Given the description of an element on the screen output the (x, y) to click on. 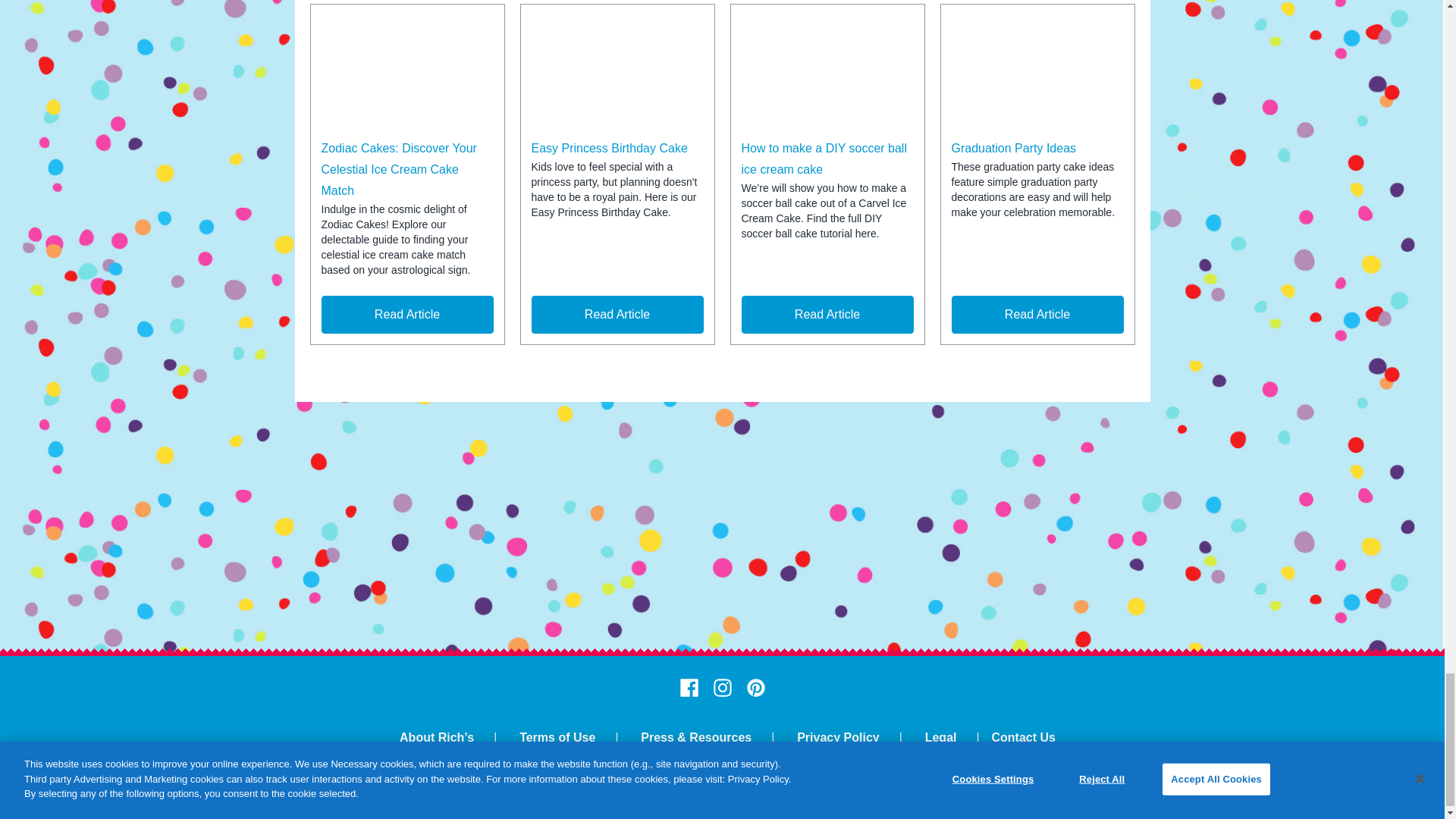
Read Article (1036, 314)
Read Article (617, 314)
Read Article (827, 314)
Read Article (407, 314)
